Given the description of an element on the screen output the (x, y) to click on. 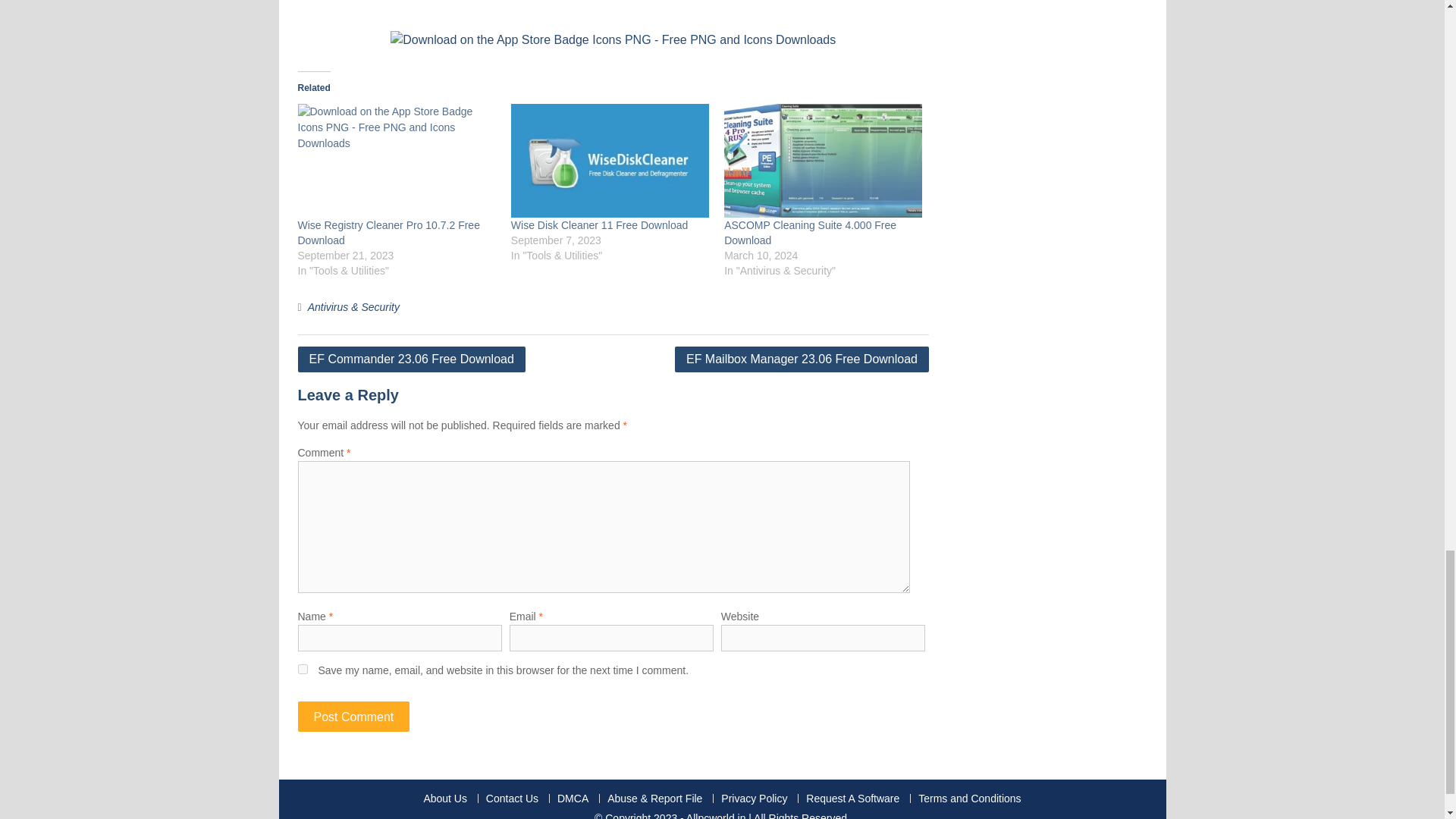
Wise Disk Cleaner 11 Free Download (599, 224)
Wise Disk Cleaner 11 Free Download (599, 224)
Wise Disk Cleaner 11 Free Download (610, 160)
ASCOMP Cleaning Suite 4.000 Free Download (822, 160)
yes (302, 668)
Wise Registry Cleaner Pro 10.7.2 Free Download (388, 232)
Wise Registry Cleaner Pro 10.7.2 Free Download (388, 232)
ASCOMP Cleaning Suite 4.000 Free Download (809, 232)
ASCOMP Cleaning Suite 4.000 Free Download (809, 232)
Post Comment (353, 716)
Wise Registry Cleaner Pro 10.7.2 Free Download (396, 160)
